Given the description of an element on the screen output the (x, y) to click on. 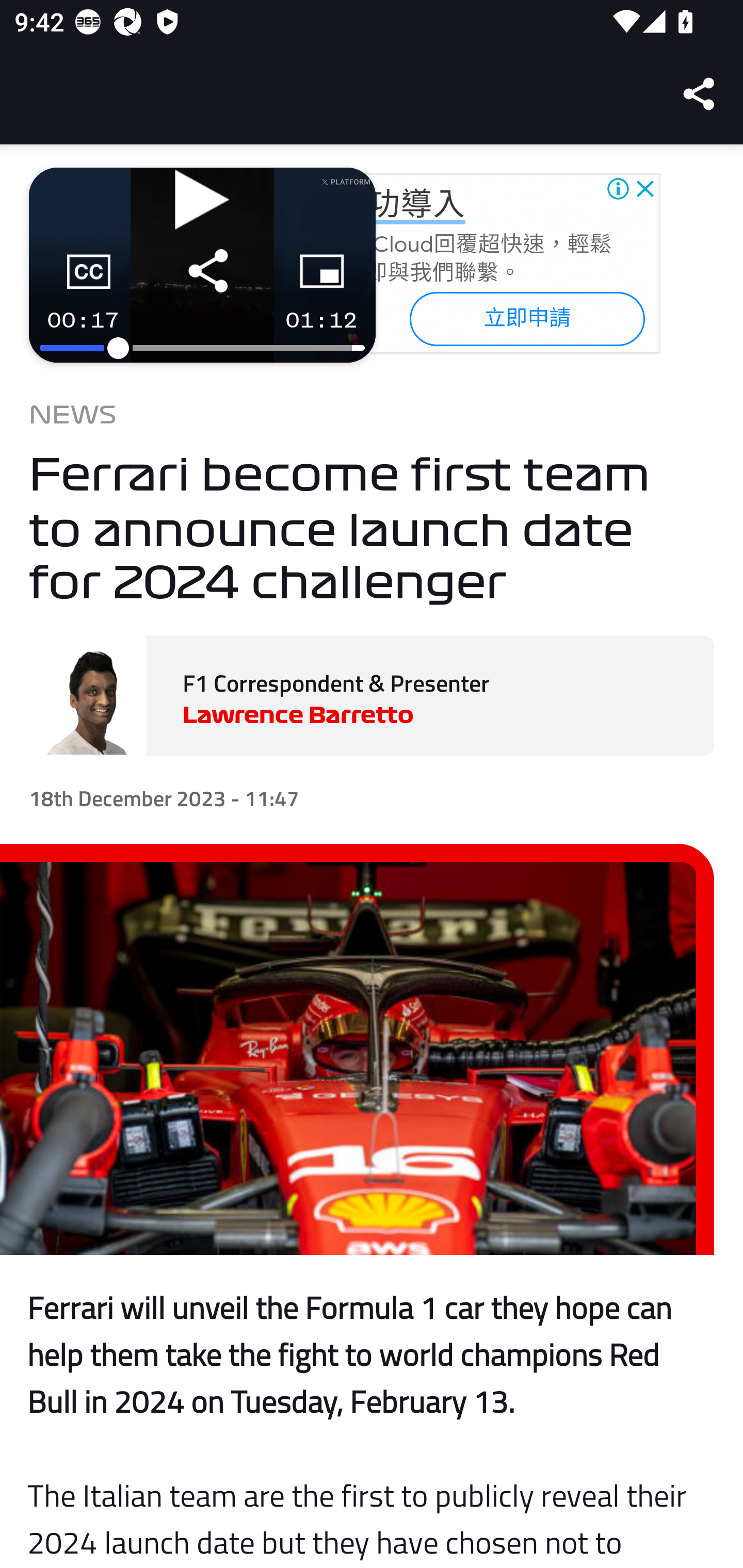
Share (699, 93)
立即申請 (526, 318)
